Given the description of an element on the screen output the (x, y) to click on. 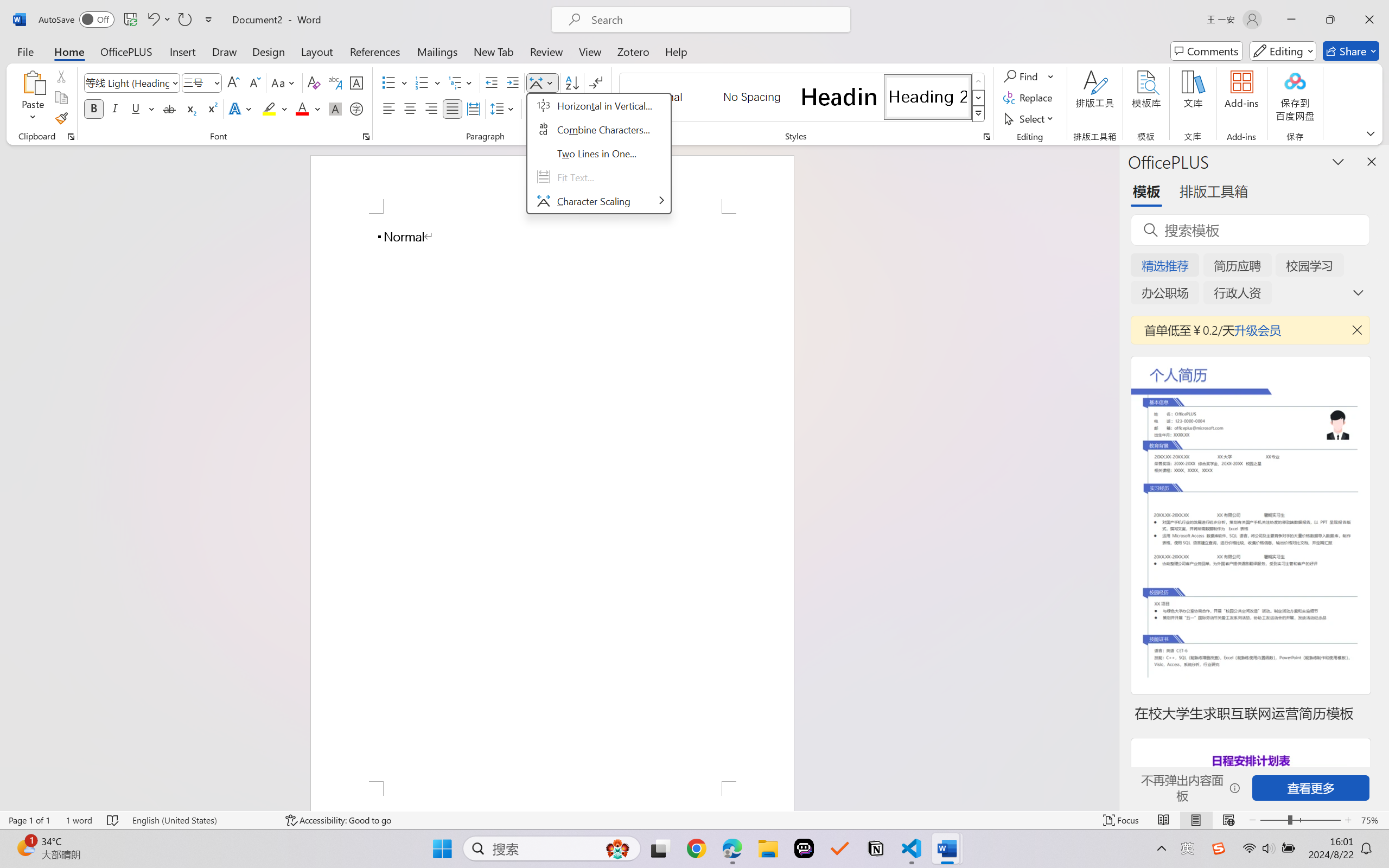
Microsoft search (715, 19)
Heading 1 (839, 96)
AutoSave (76, 19)
Layout (316, 51)
Find (1029, 75)
Insert (182, 51)
Strikethrough (169, 108)
Web Layout (1228, 819)
Phonetic Guide... (334, 82)
Replace... (1029, 97)
&Asian Layout (599, 153)
